Given the description of an element on the screen output the (x, y) to click on. 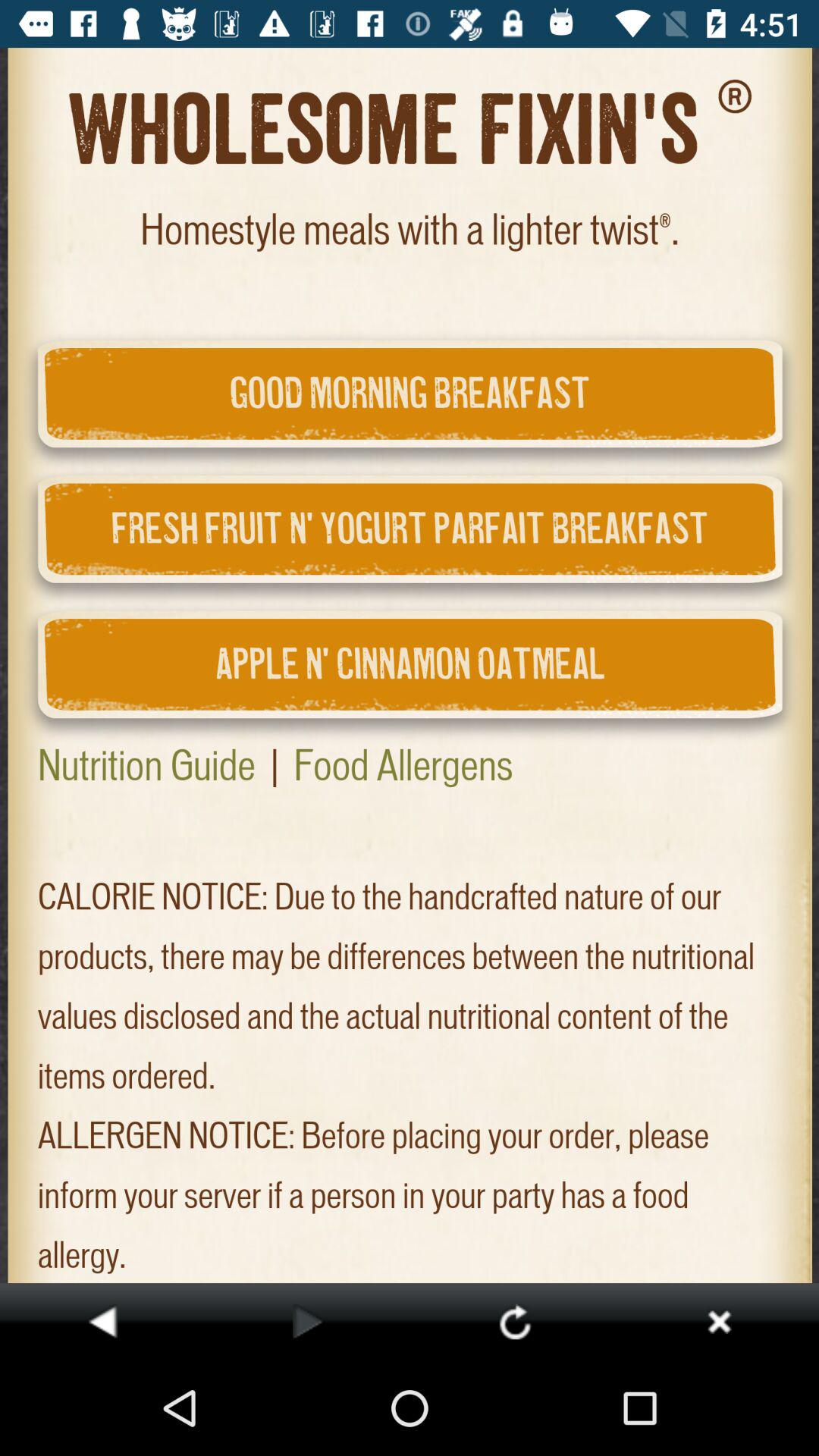
retry (514, 1321)
